Given the description of an element on the screen output the (x, y) to click on. 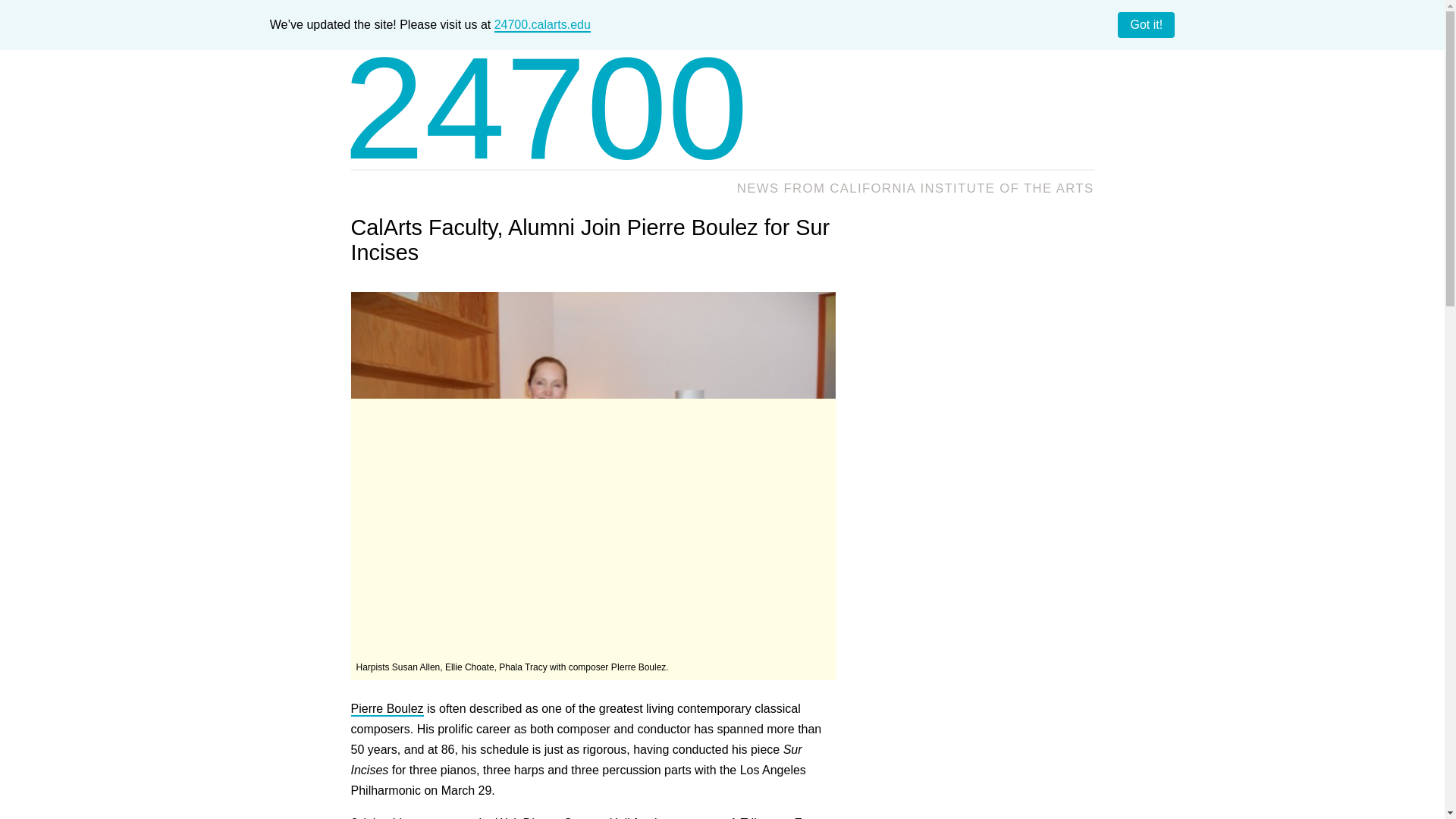
24700 (545, 107)
Go (1077, 120)
A Tribute to Ernest (778, 817)
Pierre Boulez (386, 708)
24700.calarts.edu (543, 25)
Go (1077, 120)
Got it! (1146, 24)
